Given the description of an element on the screen output the (x, y) to click on. 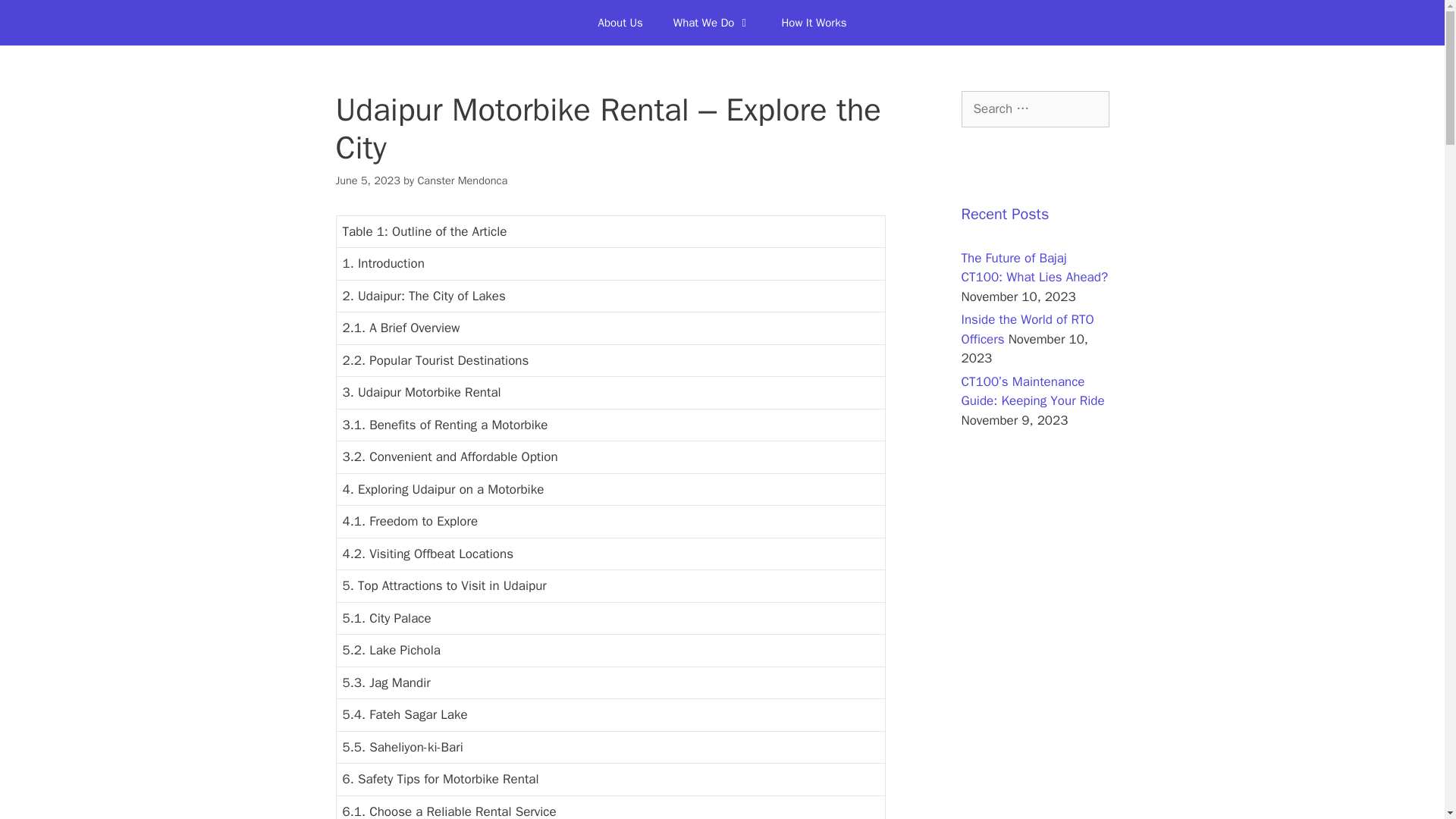
About Us (620, 22)
What We Do (712, 22)
View all posts by Canster Mendonca (461, 180)
How It Works (813, 22)
Canster Mendonca (461, 180)
Search for: (1034, 108)
